Given the description of an element on the screen output the (x, y) to click on. 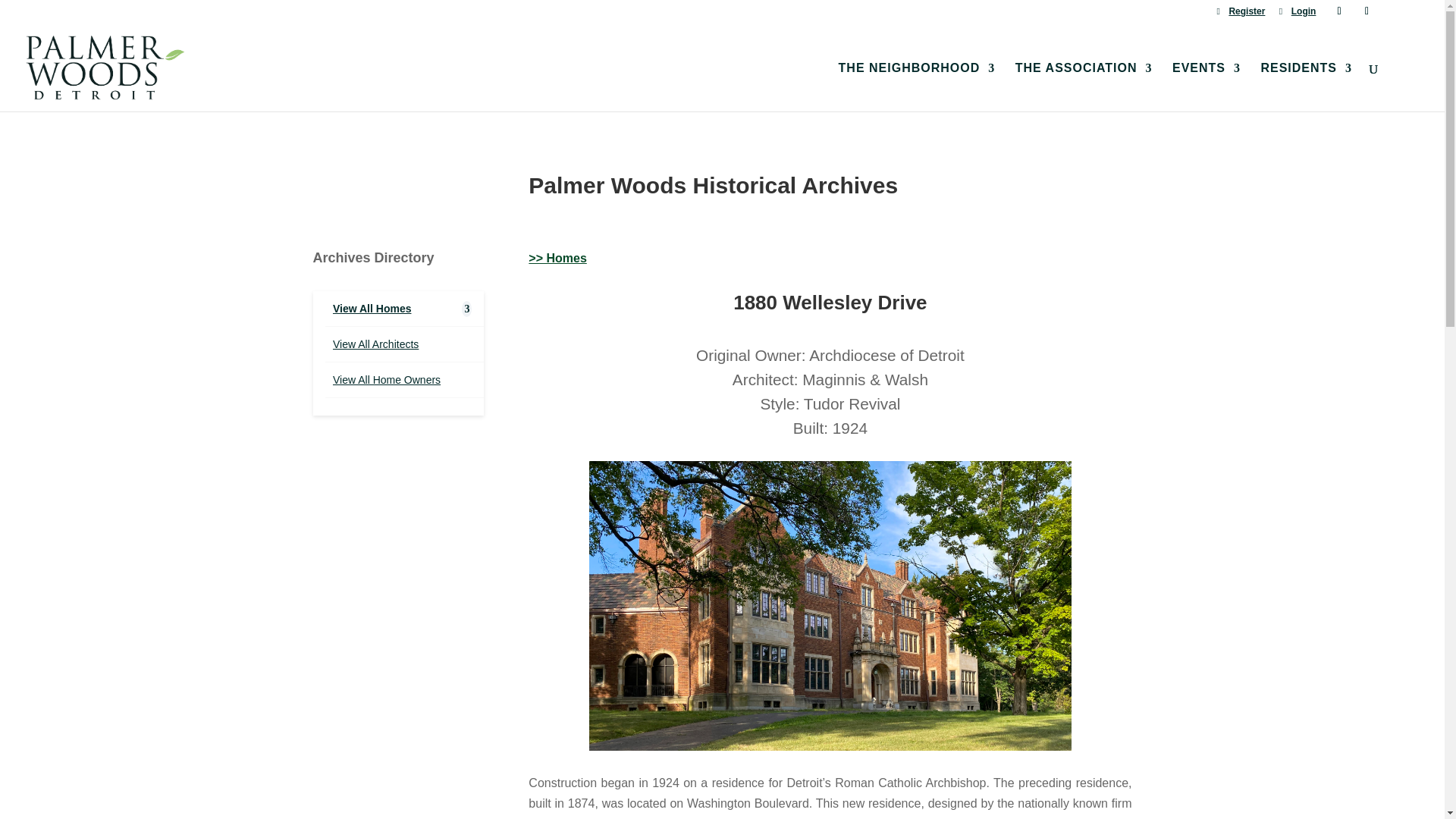
THE ASSOCIATION (1083, 86)
Register (1240, 14)
THE NEIGHBORHOOD (916, 86)
Login (1297, 14)
RESIDENTS (1306, 86)
EVENTS (1206, 86)
